Given the description of an element on the screen output the (x, y) to click on. 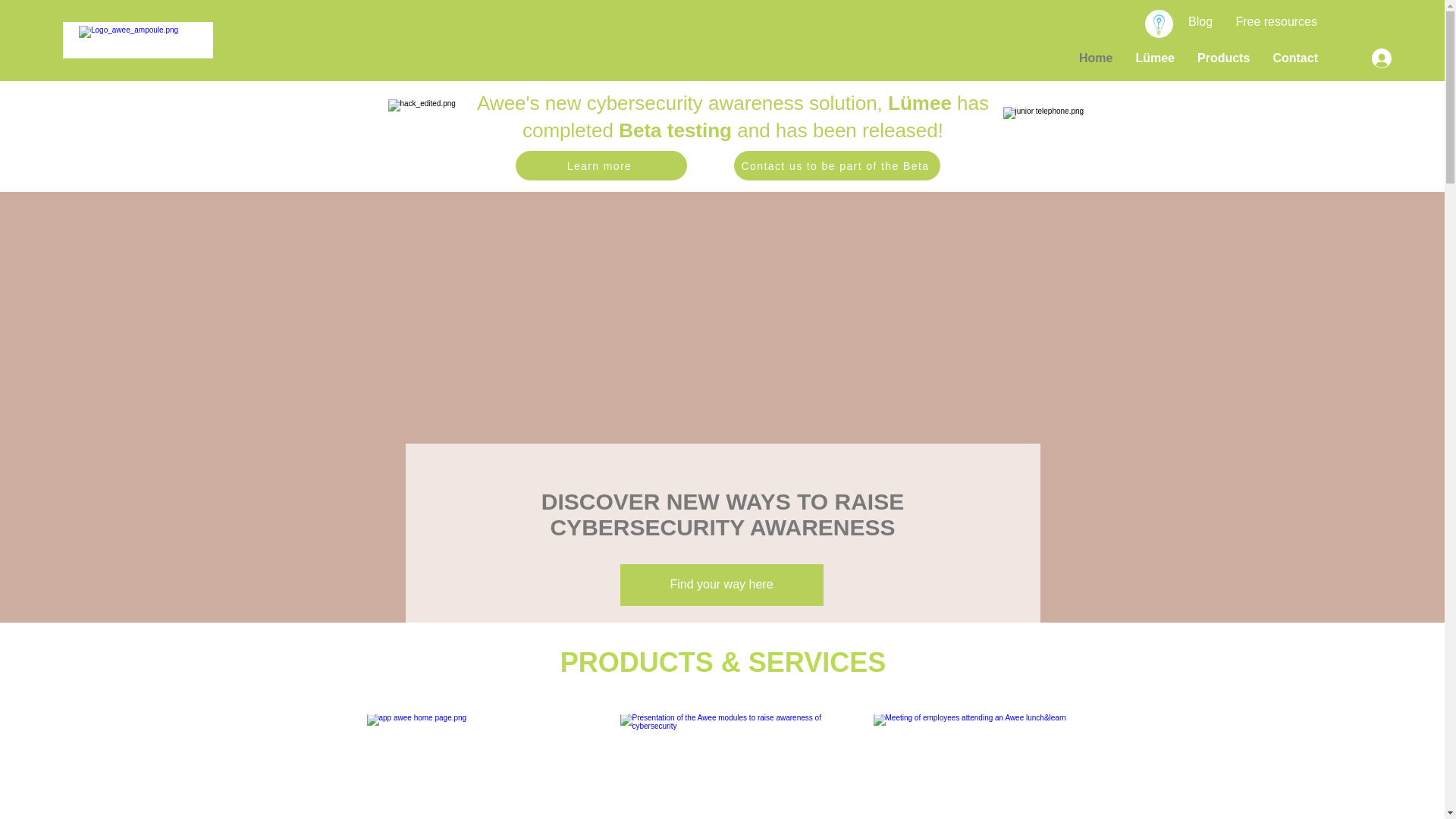
Products Element type: text (1223, 58)
Blog Element type: text (1199, 21)
Logo awee.png Element type: hover (137, 40)
Free resources Element type: text (1275, 21)
Find your way here Element type: text (721, 584)
Learn more Element type: text (601, 165)
Contact us to be part of the Beta Element type: text (837, 165)
Home Element type: text (1095, 58)
hibou assis.png Element type: hover (437, 135)
Contact Element type: text (1295, 58)
Log In Element type: text (1377, 57)
